Given the description of an element on the screen output the (x, y) to click on. 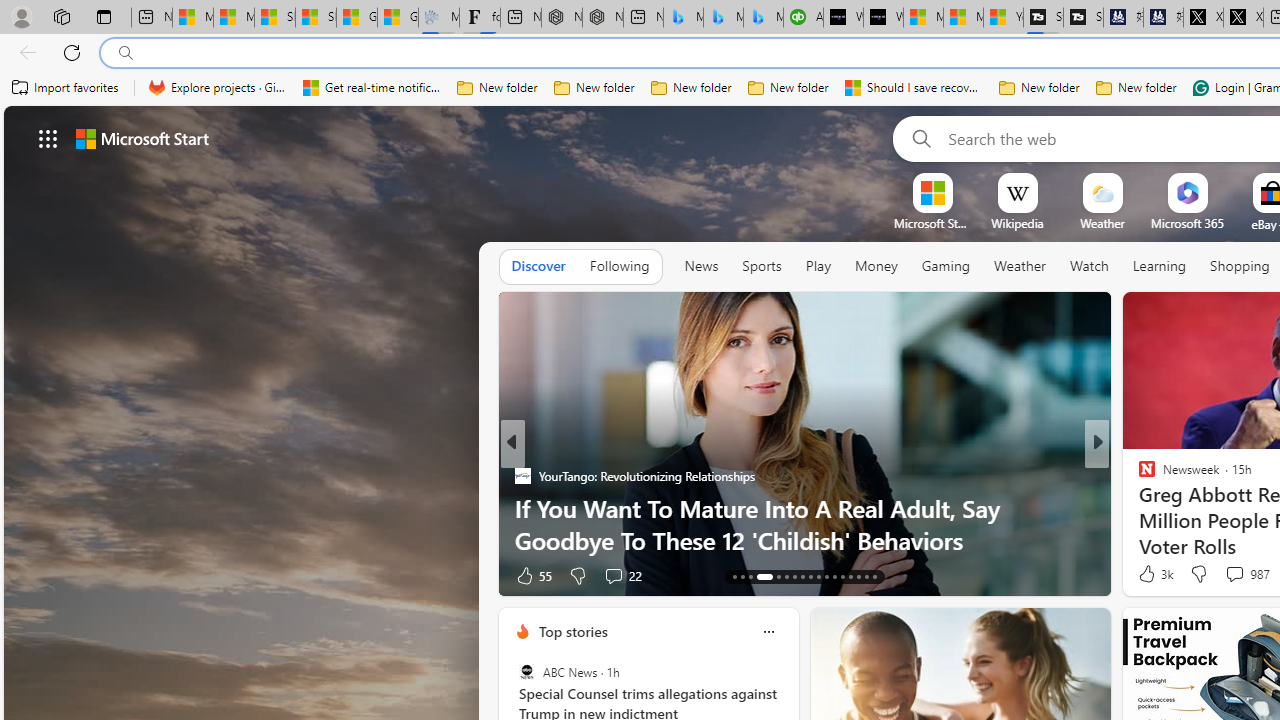
Search icon (125, 53)
379 Like (1151, 574)
Gaming (945, 265)
View comments 987 Comment (1246, 574)
View comments 52 Comment (1229, 575)
AutomationID: tab-27 (857, 576)
